Given the description of an element on the screen output the (x, y) to click on. 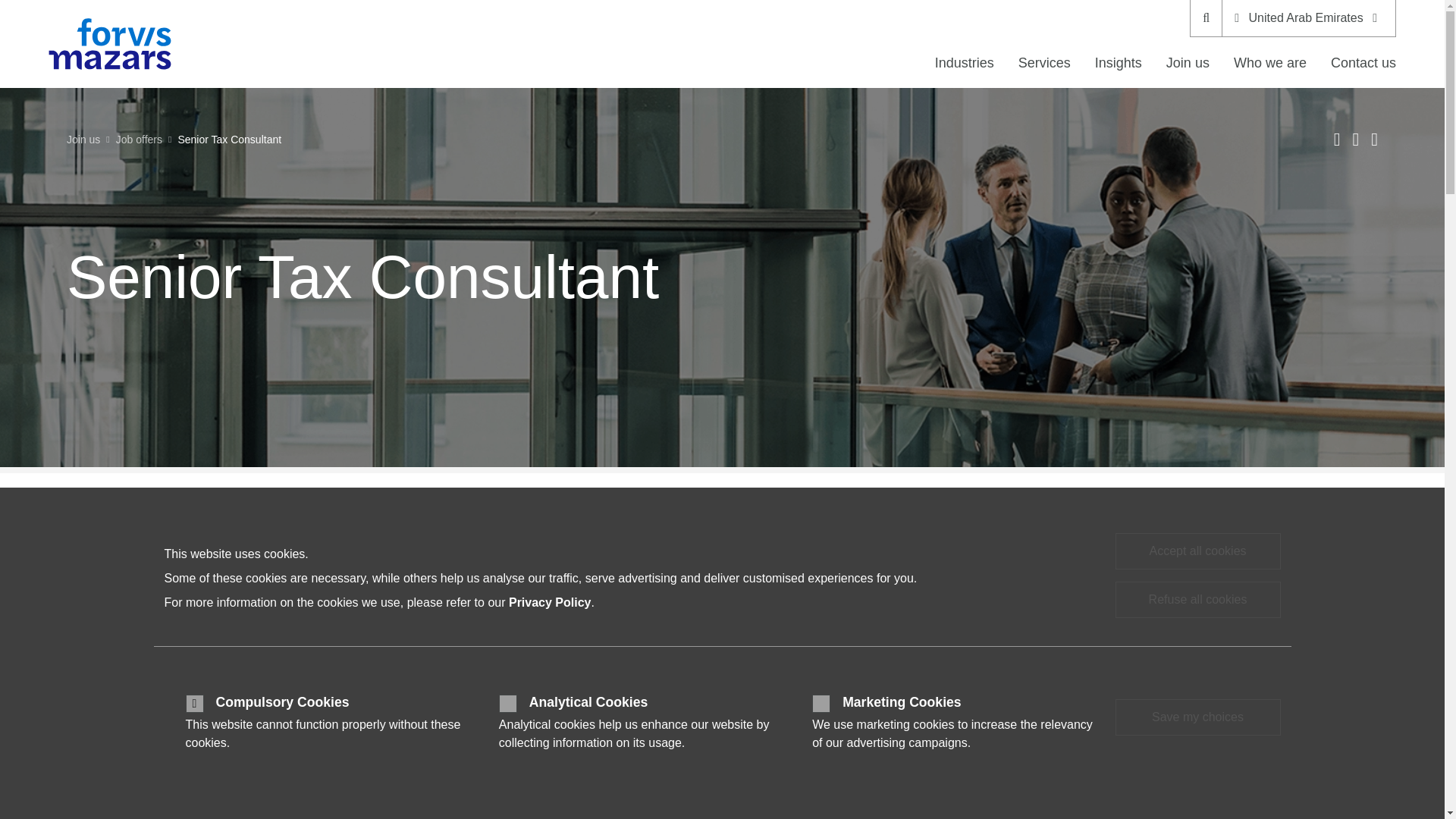
United Arab Emirates (1308, 18)
